Given the description of an element on the screen output the (x, y) to click on. 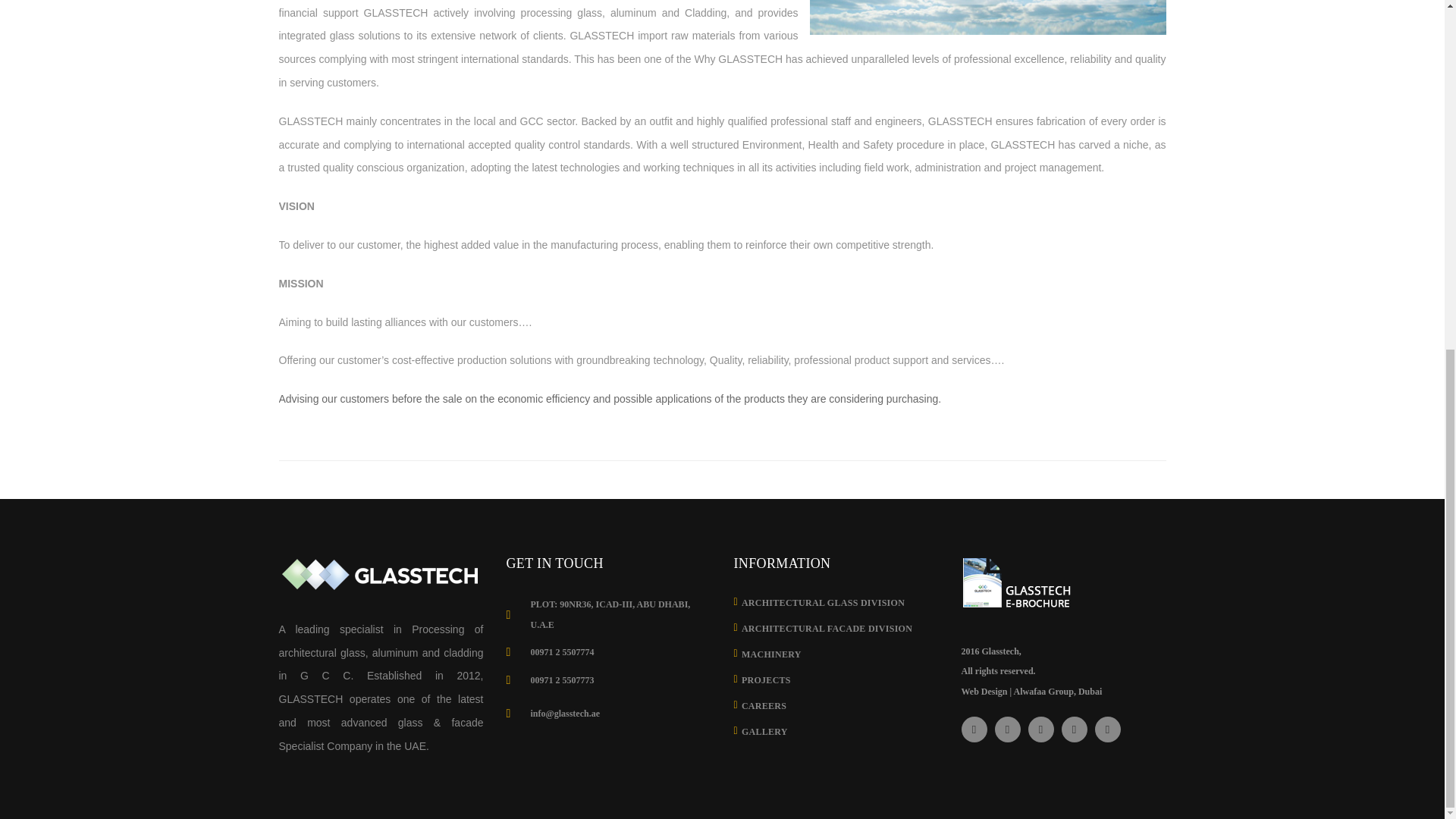
MACHINERY (771, 654)
CAREERS (763, 705)
GALLERY (764, 731)
ARCHITECTURAL GLASS DIVISION (822, 602)
ARCHITECTURAL FACADE DIVISION (826, 628)
PROJECTS (765, 679)
